Given the description of an element on the screen output the (x, y) to click on. 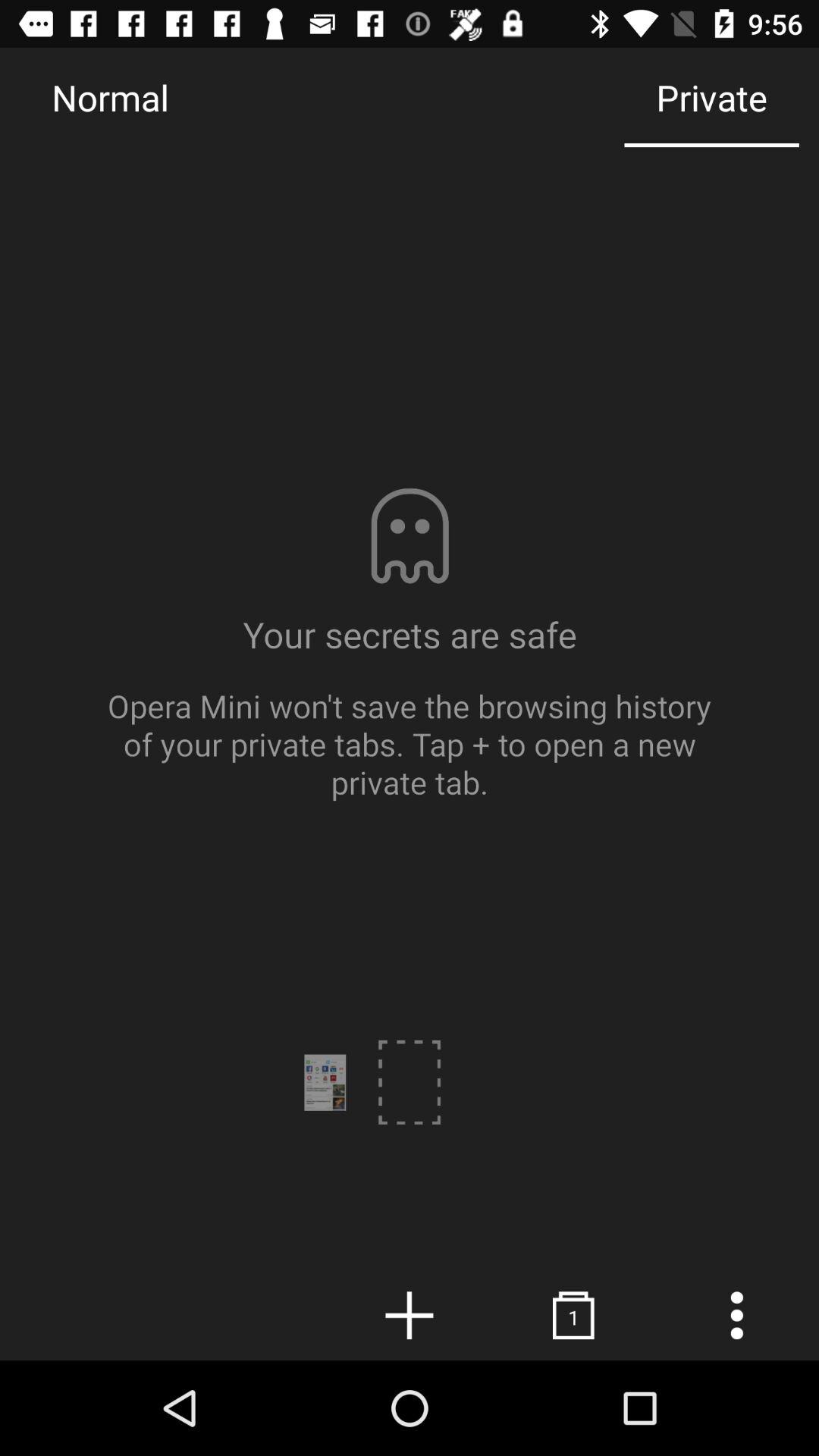
click the icon next to the private item (109, 97)
